Given the description of an element on the screen output the (x, y) to click on. 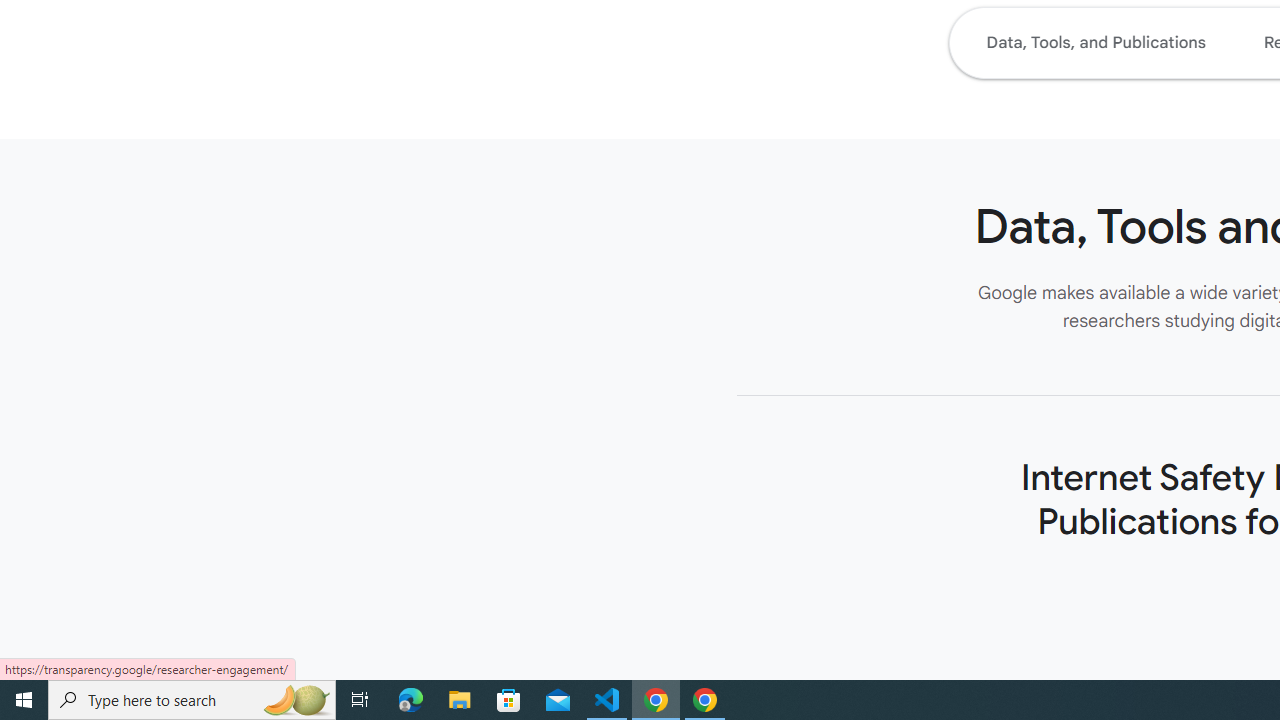
Data, Tools, and Publications (1095, 42)
Google Transparency Report (895, 687)
